Given the description of an element on the screen output the (x, y) to click on. 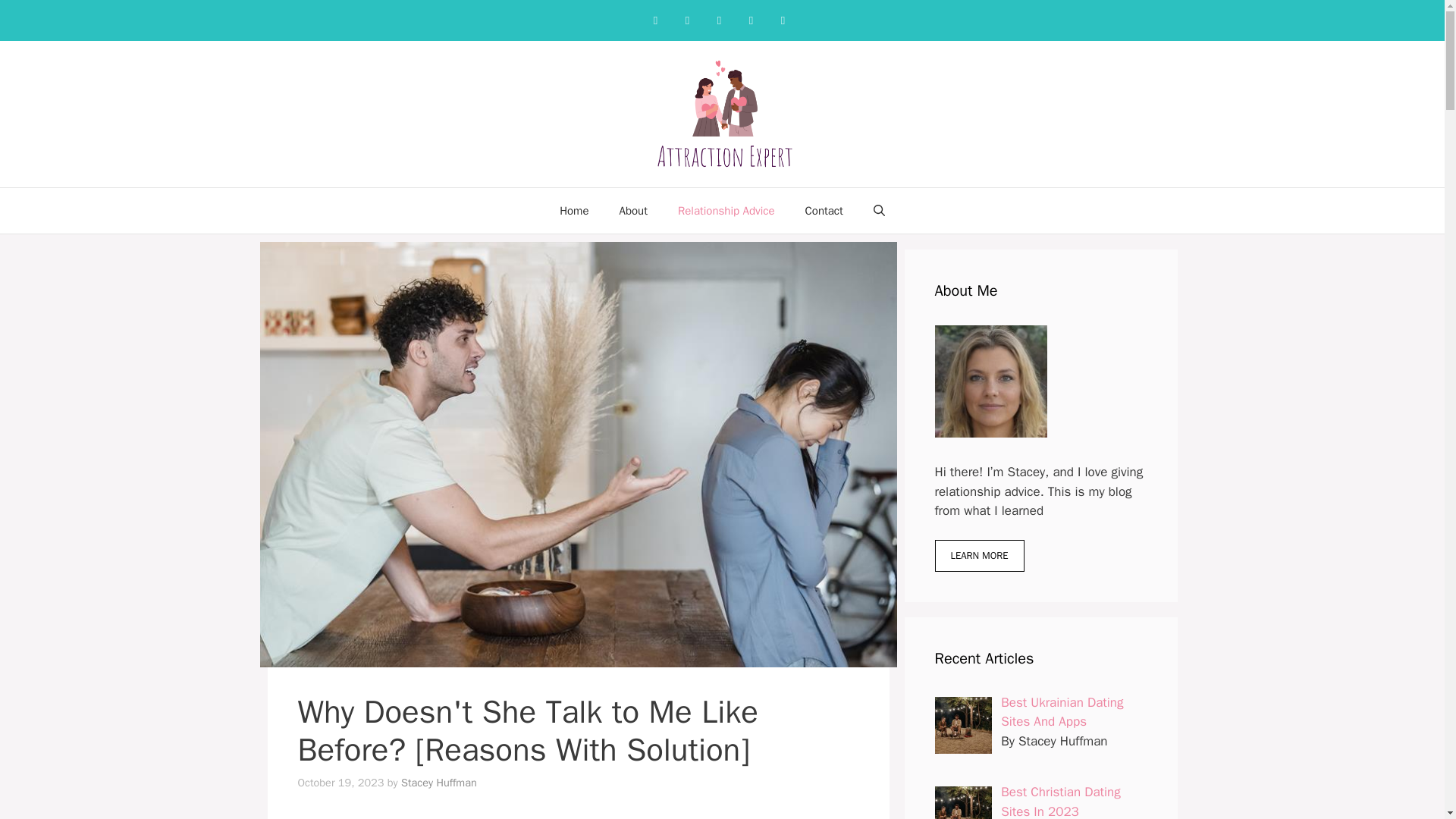
Home (574, 210)
Best Christian Dating Sites In 2023 (1061, 801)
YouTube (783, 20)
Stacey Huffman (439, 782)
Twitter (751, 20)
Best Ukrainian Dating Sites And Apps (1061, 712)
Relationship Advice (726, 210)
LEARN MORE (978, 555)
Contact (824, 210)
View all posts by Stacey Huffman (439, 782)
Facebook (655, 20)
Instagram (687, 20)
About (633, 210)
Pinterest (719, 20)
